Given the description of an element on the screen output the (x, y) to click on. 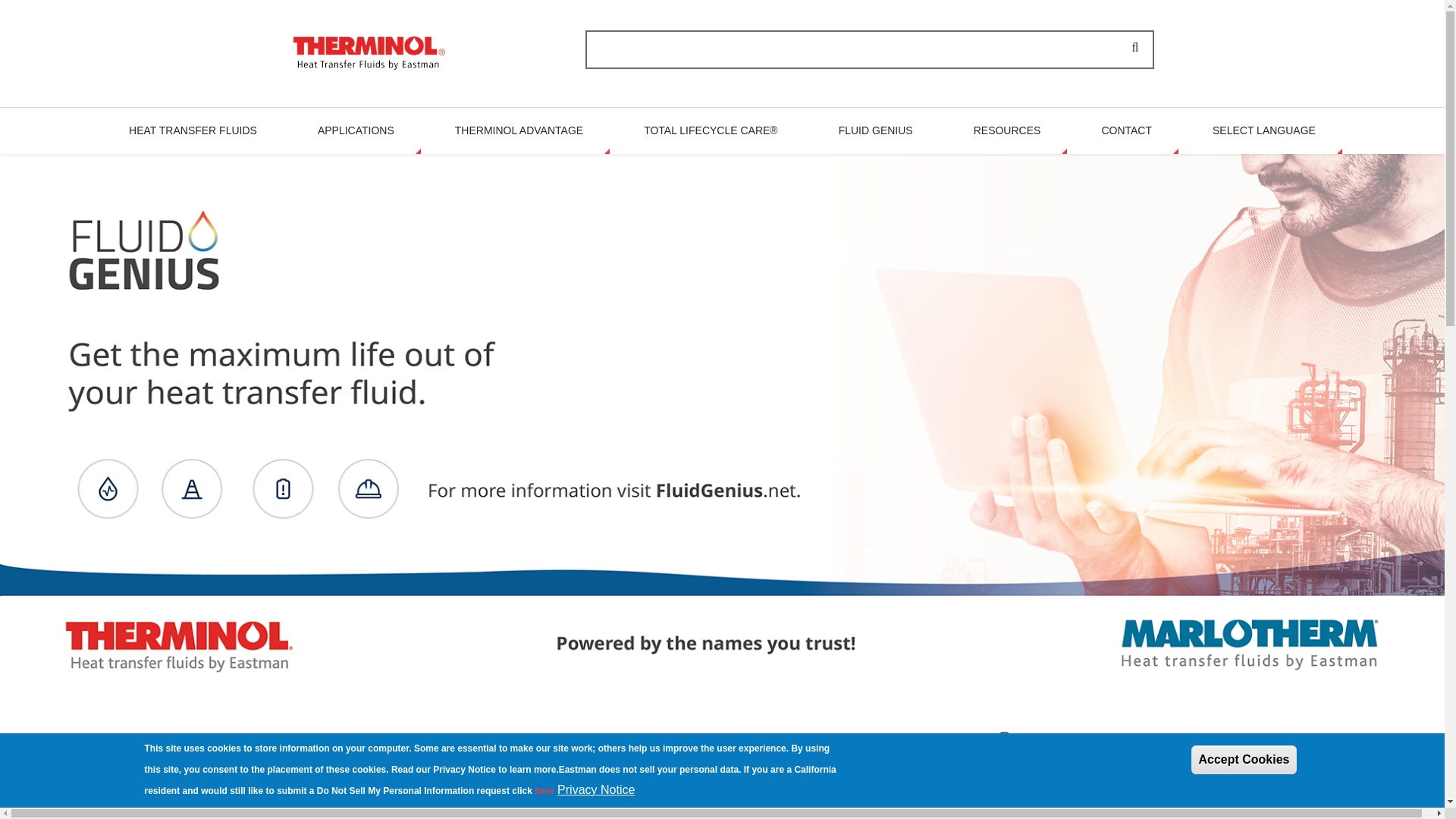
THERMINOL ADVANTAGE (519, 130)
APPLICATIONS (355, 130)
RESOURCES (1007, 130)
HEAT TRANSFER FLUIDS (192, 130)
FLUID GENIUS (875, 130)
Home (367, 51)
Enter the terms you wish to search for. (869, 49)
